Given the description of an element on the screen output the (x, y) to click on. 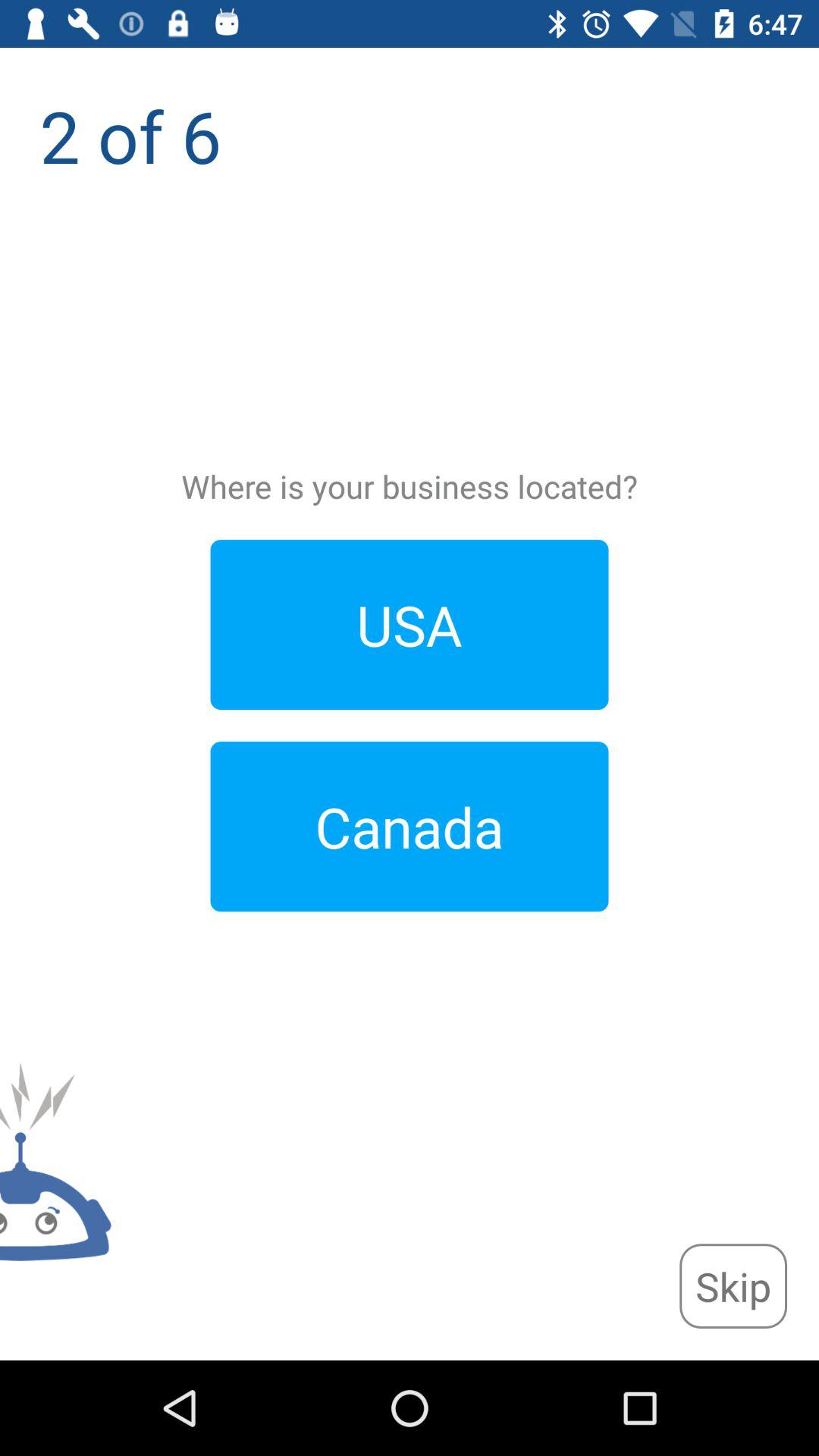
turn on the canada item (409, 826)
